Given the description of an element on the screen output the (x, y) to click on. 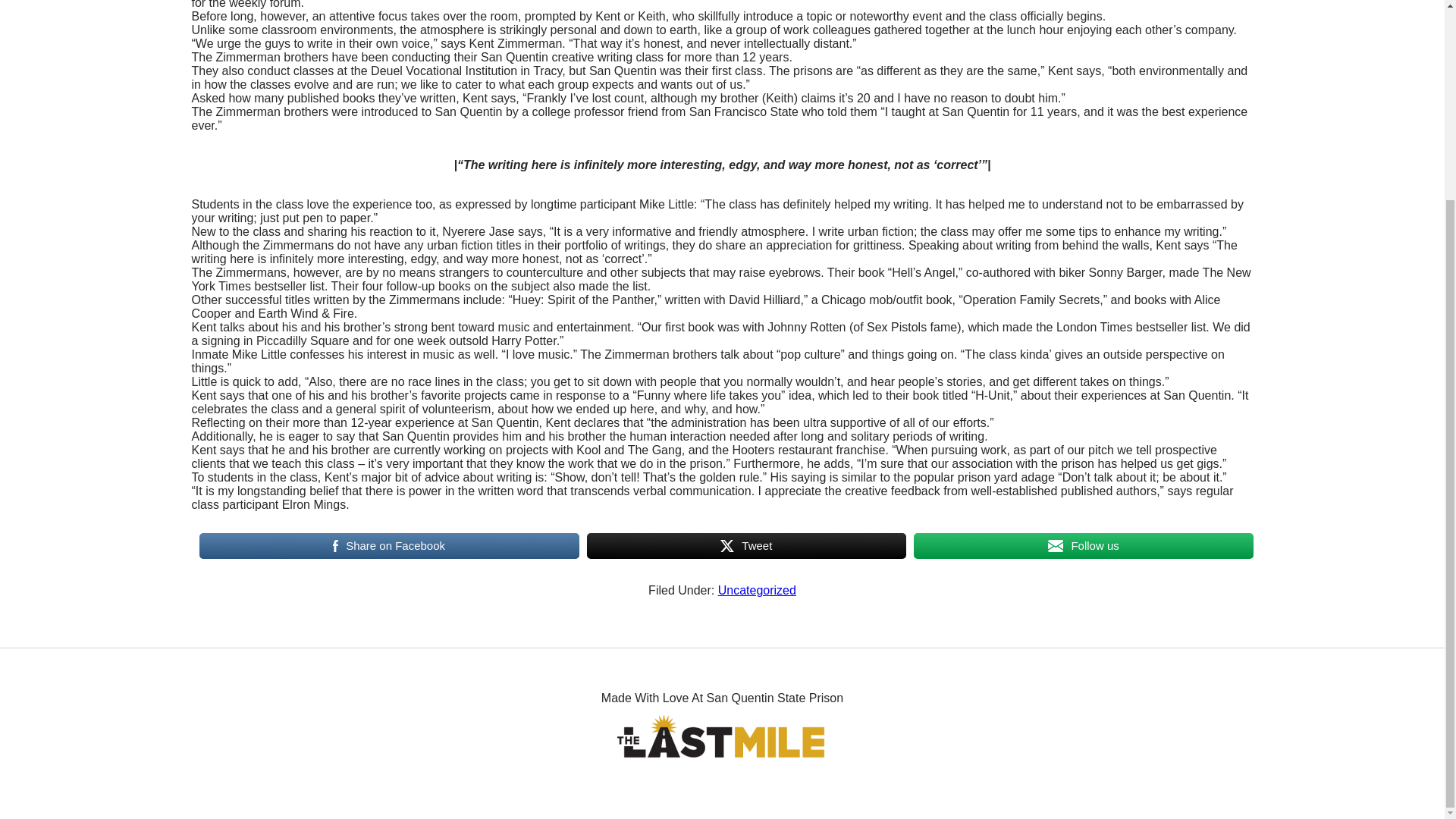
Follow us (1083, 545)
Tweet (745, 545)
Share on Facebook (388, 545)
Uncategorized (756, 590)
